Given the description of an element on the screen output the (x, y) to click on. 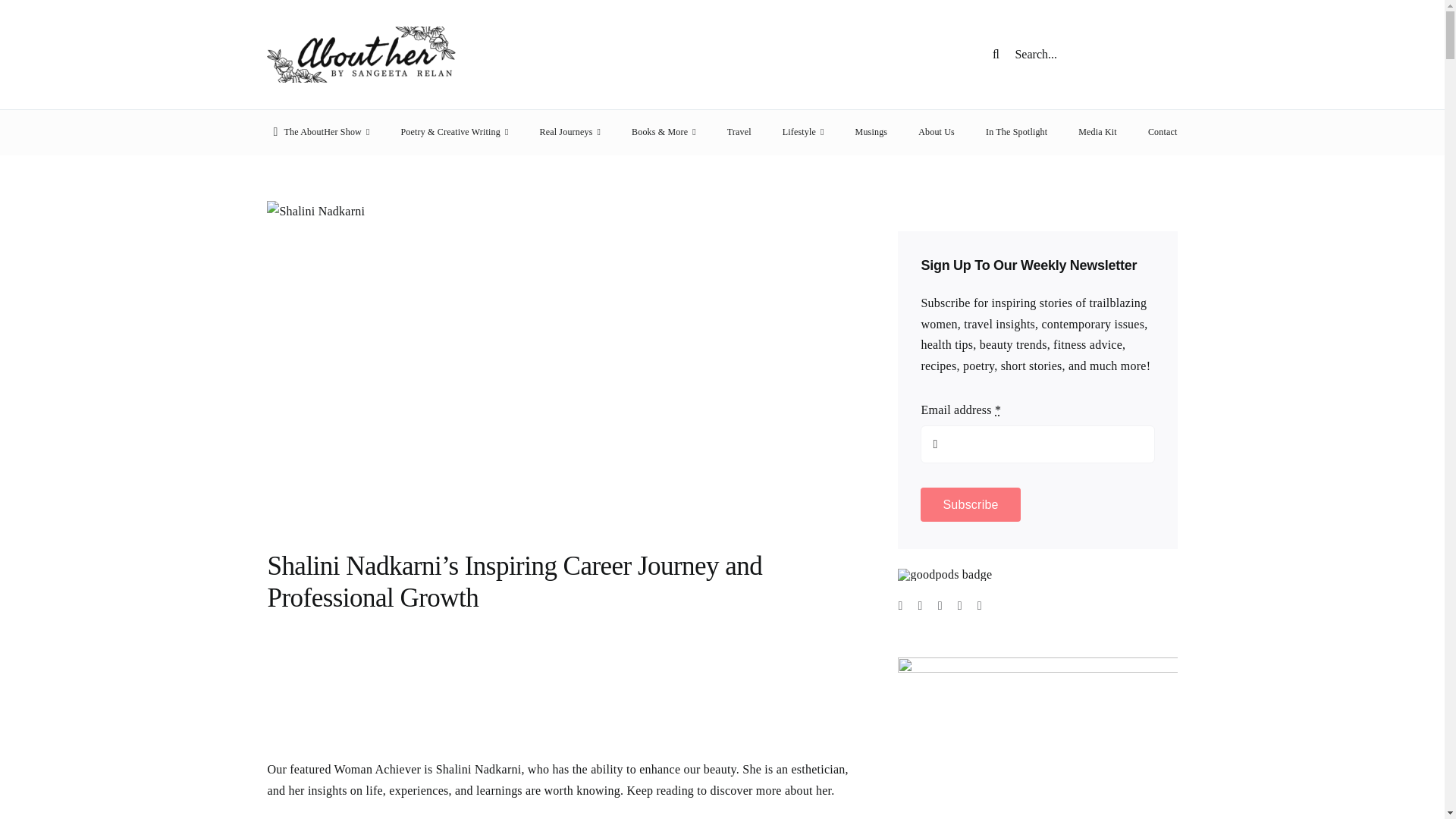
Lifestyle (803, 132)
Real Journeys (568, 132)
The AboutHer Show (317, 132)
